Given the description of an element on the screen output the (x, y) to click on. 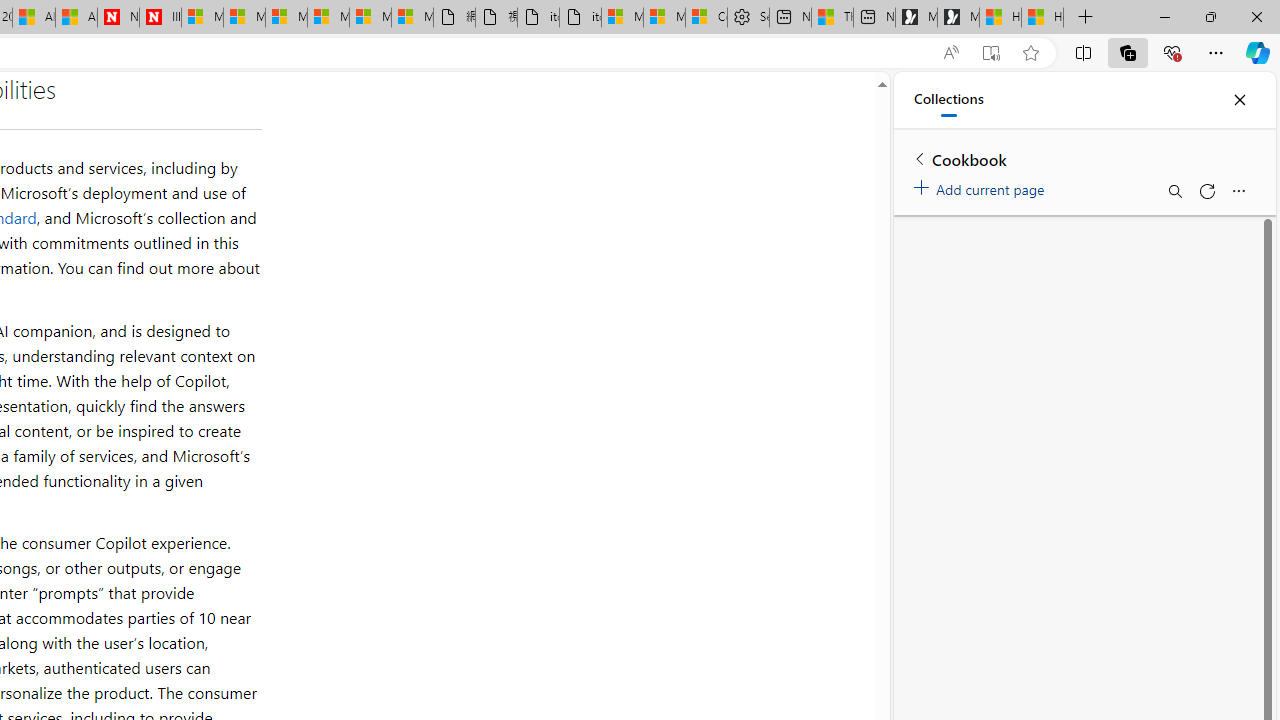
Illness news & latest pictures from Newsweek.com (159, 17)
